Given the description of an element on the screen output the (x, y) to click on. 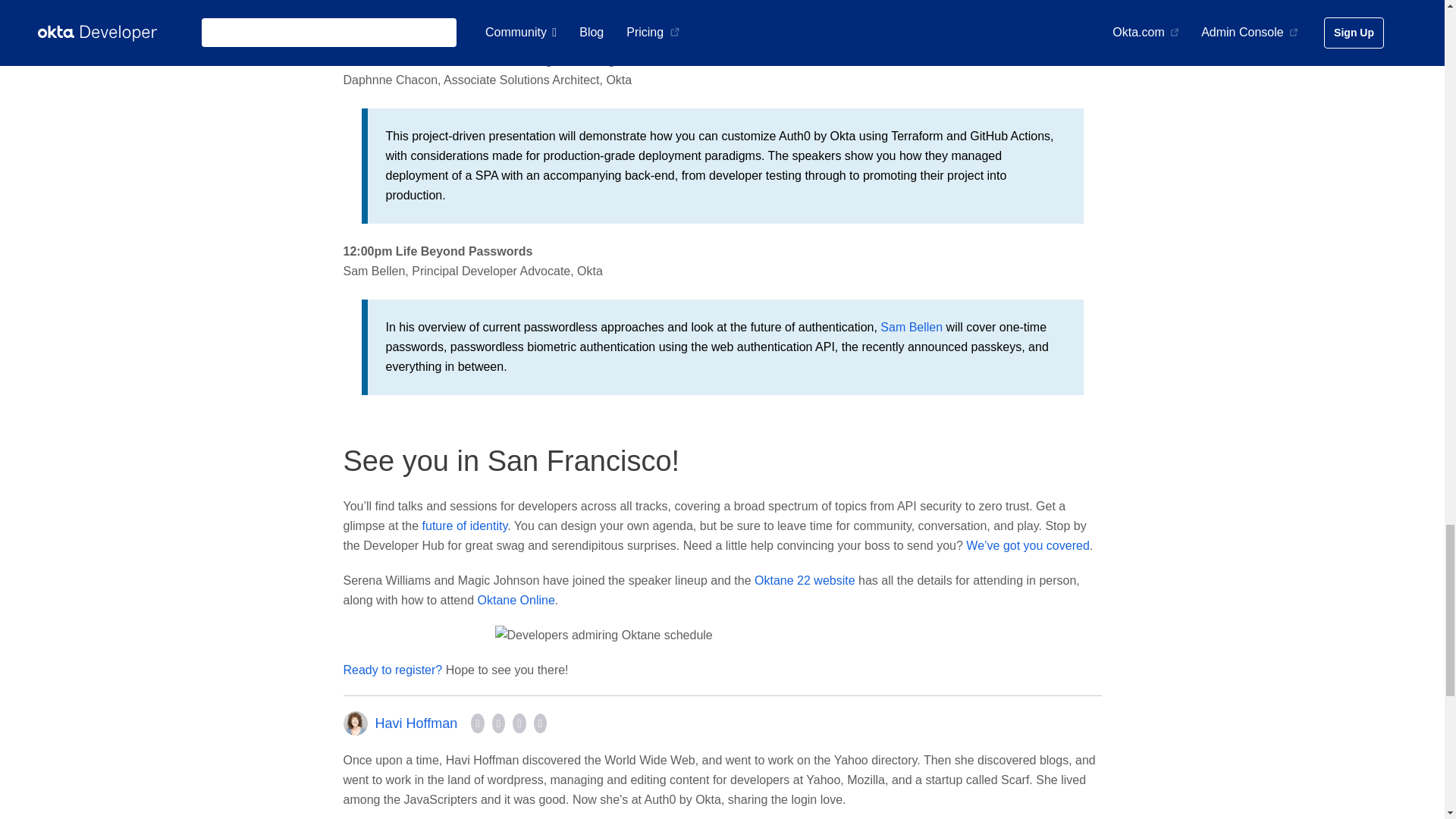
future of identity (465, 525)
See you in San Francisco! (510, 460)
Oktane 22 website (805, 580)
Sam Bellen (911, 327)
